Given the description of an element on the screen output the (x, y) to click on. 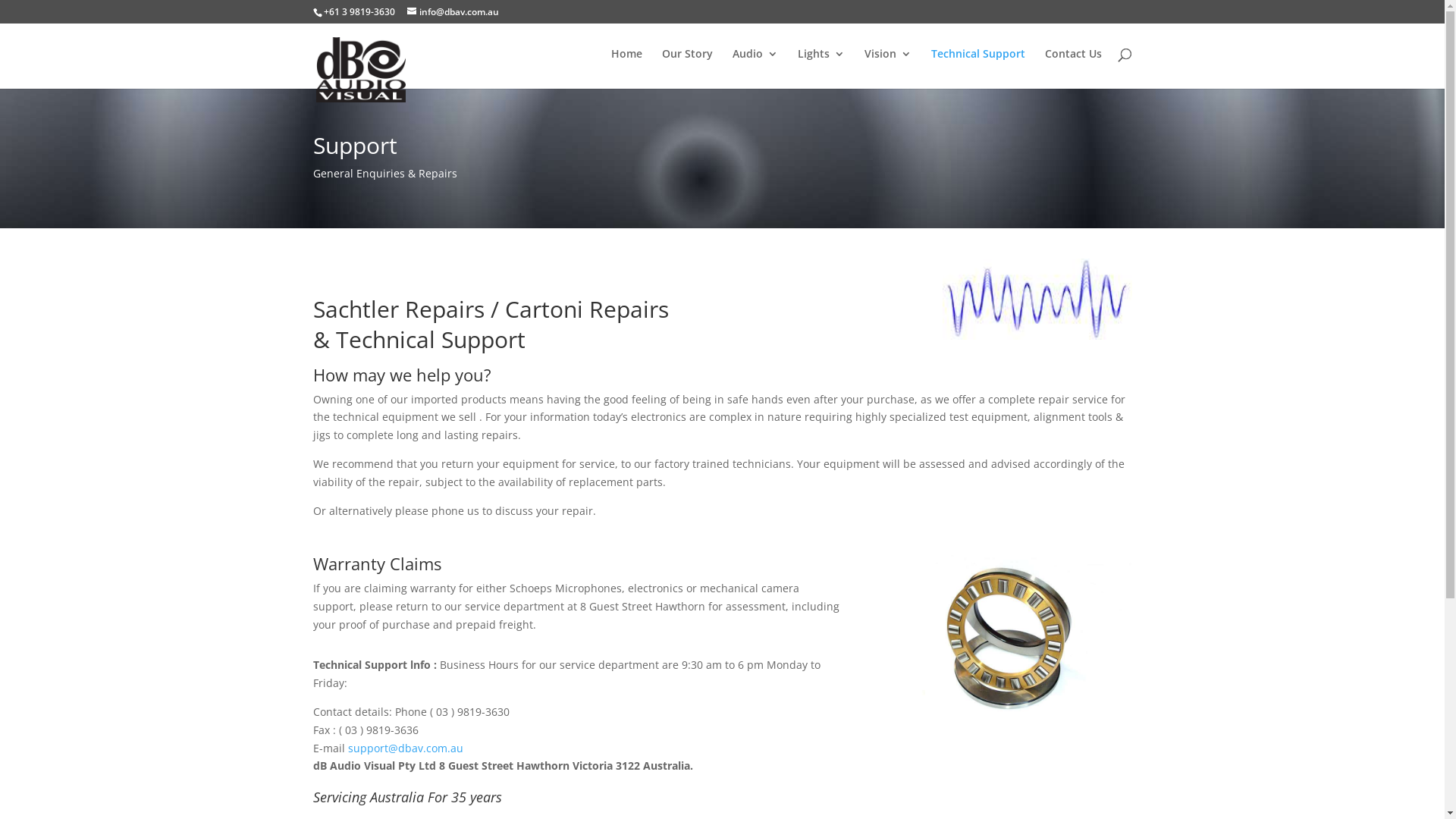
support@dbav.com.au Element type: text (404, 747)
Home Element type: text (626, 66)
Sachtler Element type: text (355, 308)
Vision Element type: text (887, 66)
Technical Support Element type: text (978, 66)
Our Story Element type: text (686, 66)
Lights Element type: text (820, 66)
Contact Us Element type: text (1072, 66)
Audio Element type: text (755, 66)
info@dbav.com.au Element type: text (452, 11)
